Given the description of an element on the screen output the (x, y) to click on. 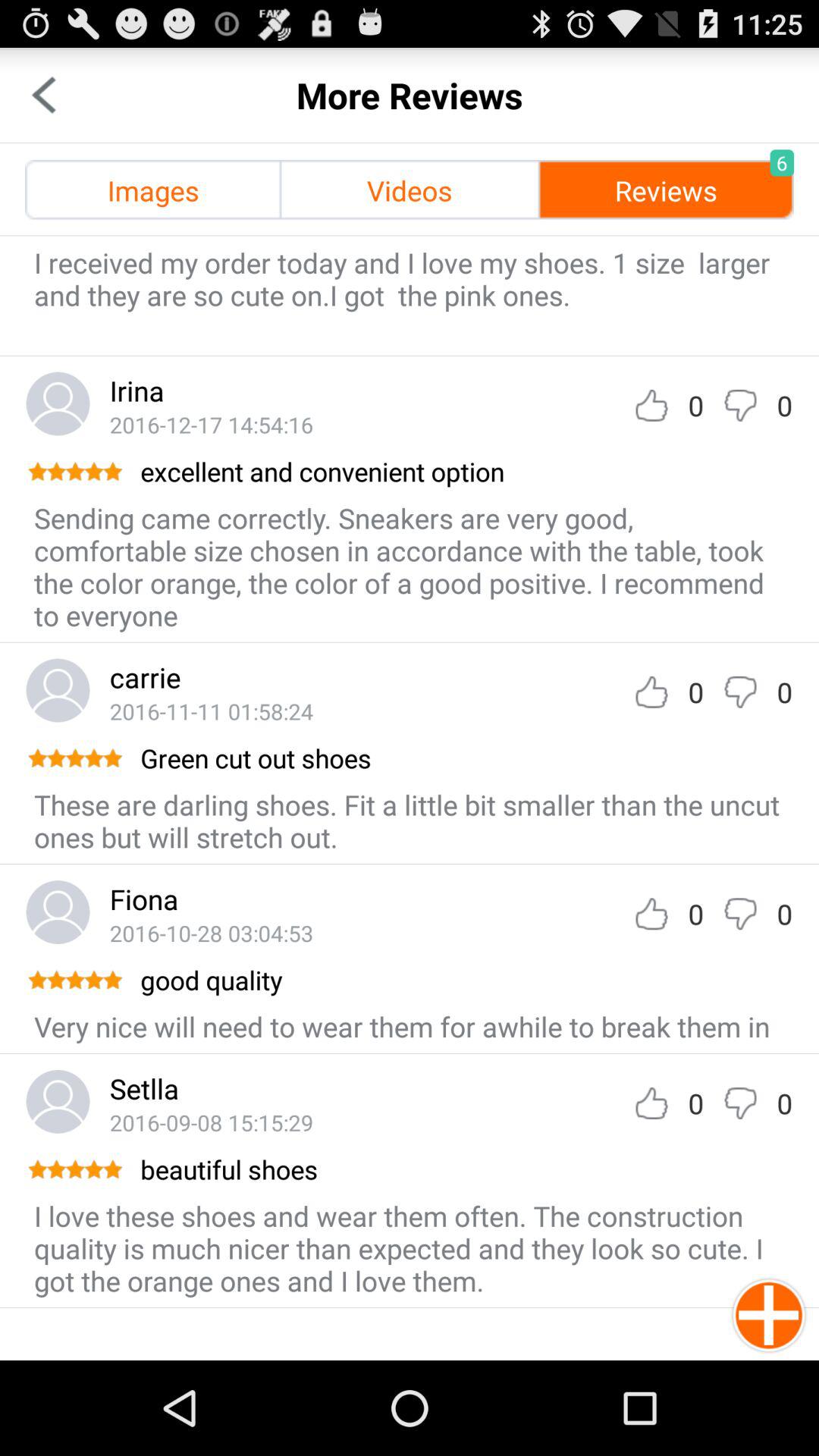
down-vote (740, 1103)
